Given the description of an element on the screen output the (x, y) to click on. 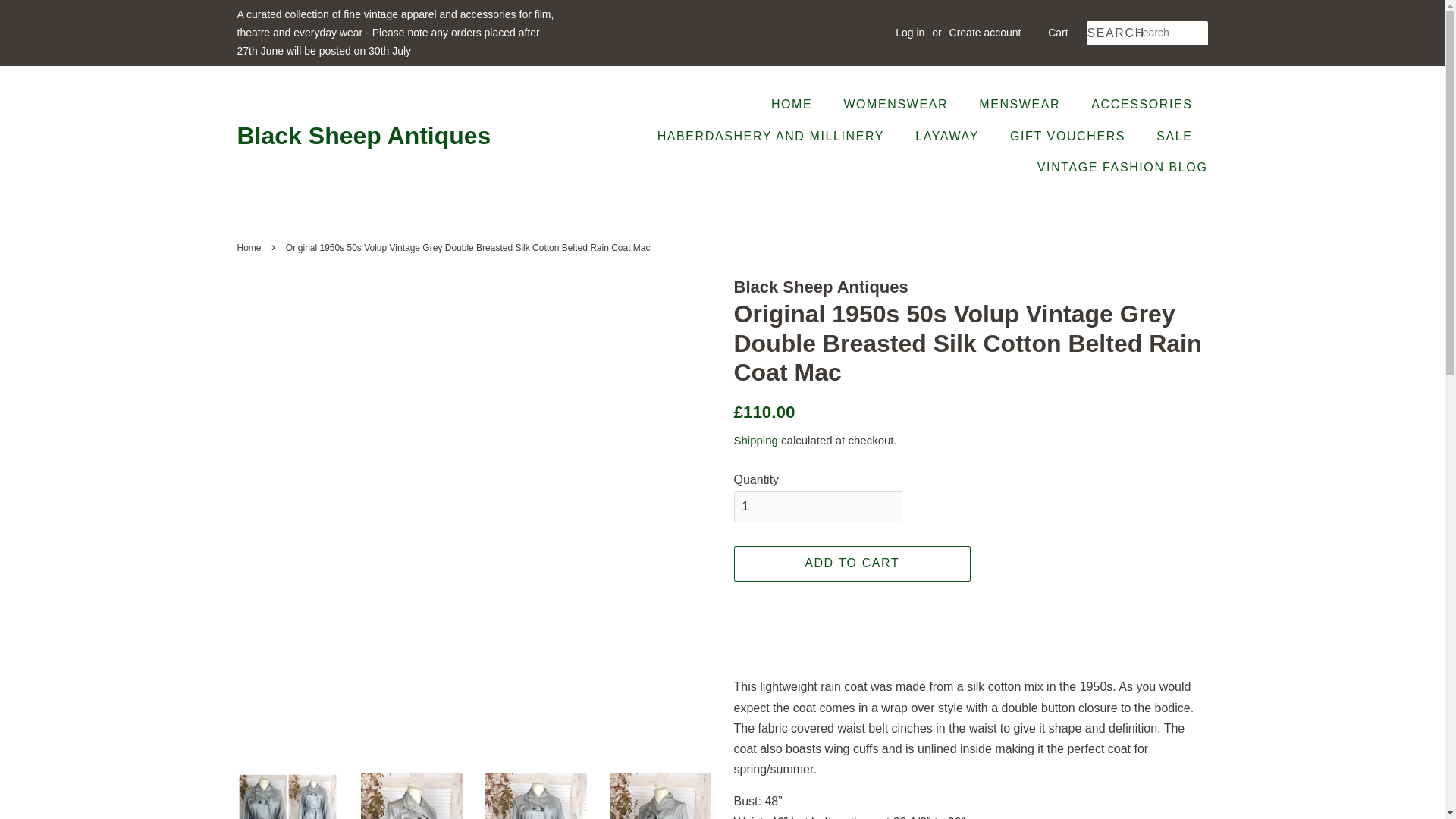
SEARCH (1110, 33)
1 (817, 506)
Cart (1057, 33)
HOME (799, 103)
Back to the frontpage (249, 247)
Log in (909, 32)
Black Sheep Antiques (362, 135)
Create account (985, 32)
